Given the description of an element on the screen output the (x, y) to click on. 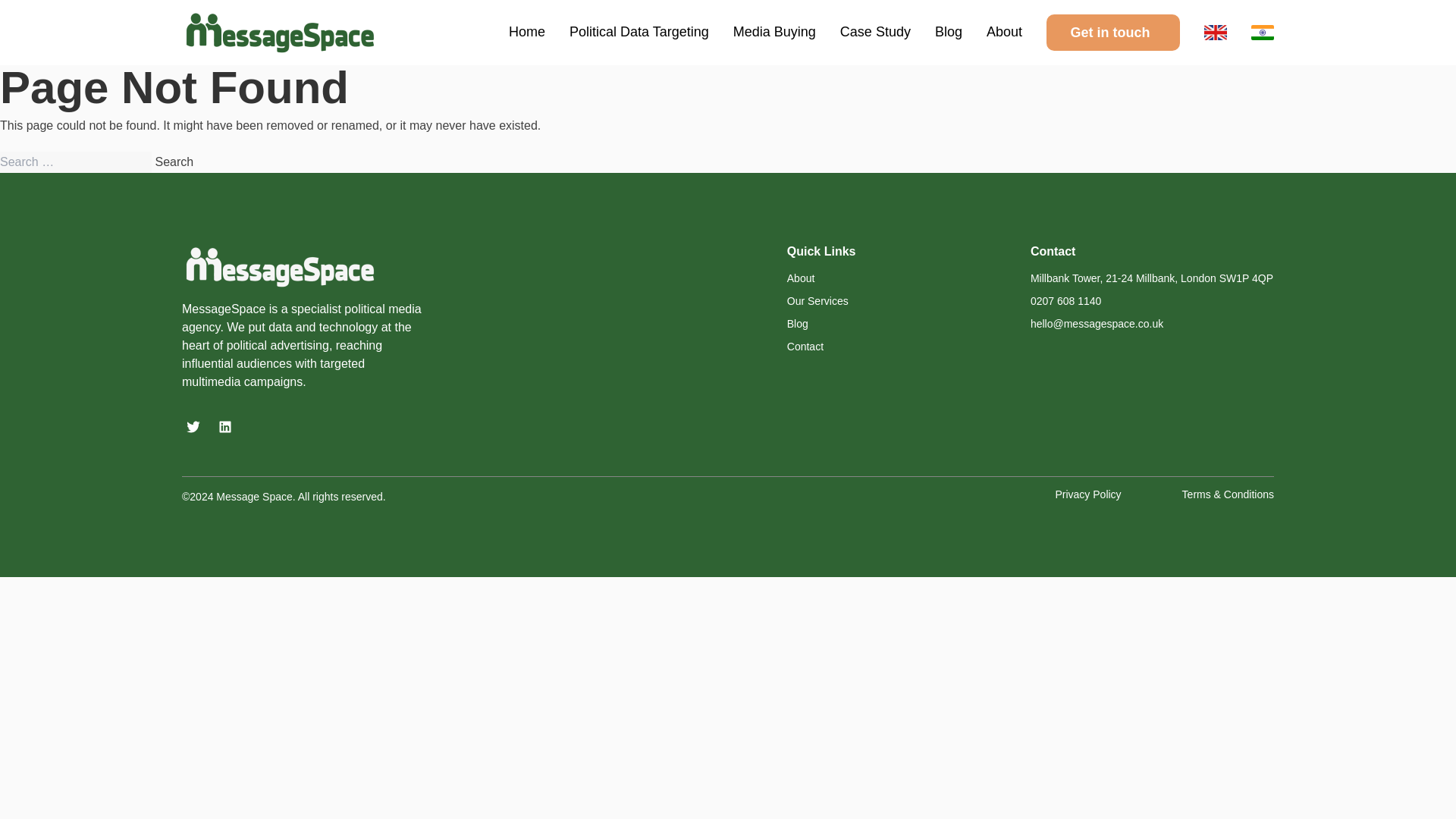
Search (173, 161)
Home (526, 31)
About (801, 277)
0207 608 1140 (1065, 300)
Blog (797, 323)
Privacy Policy (1087, 494)
Political Data Targeting (639, 31)
Case Study (875, 31)
Our Services (817, 300)
View MessageSpace Mumbai (1262, 32)
